Given the description of an element on the screen output the (x, y) to click on. 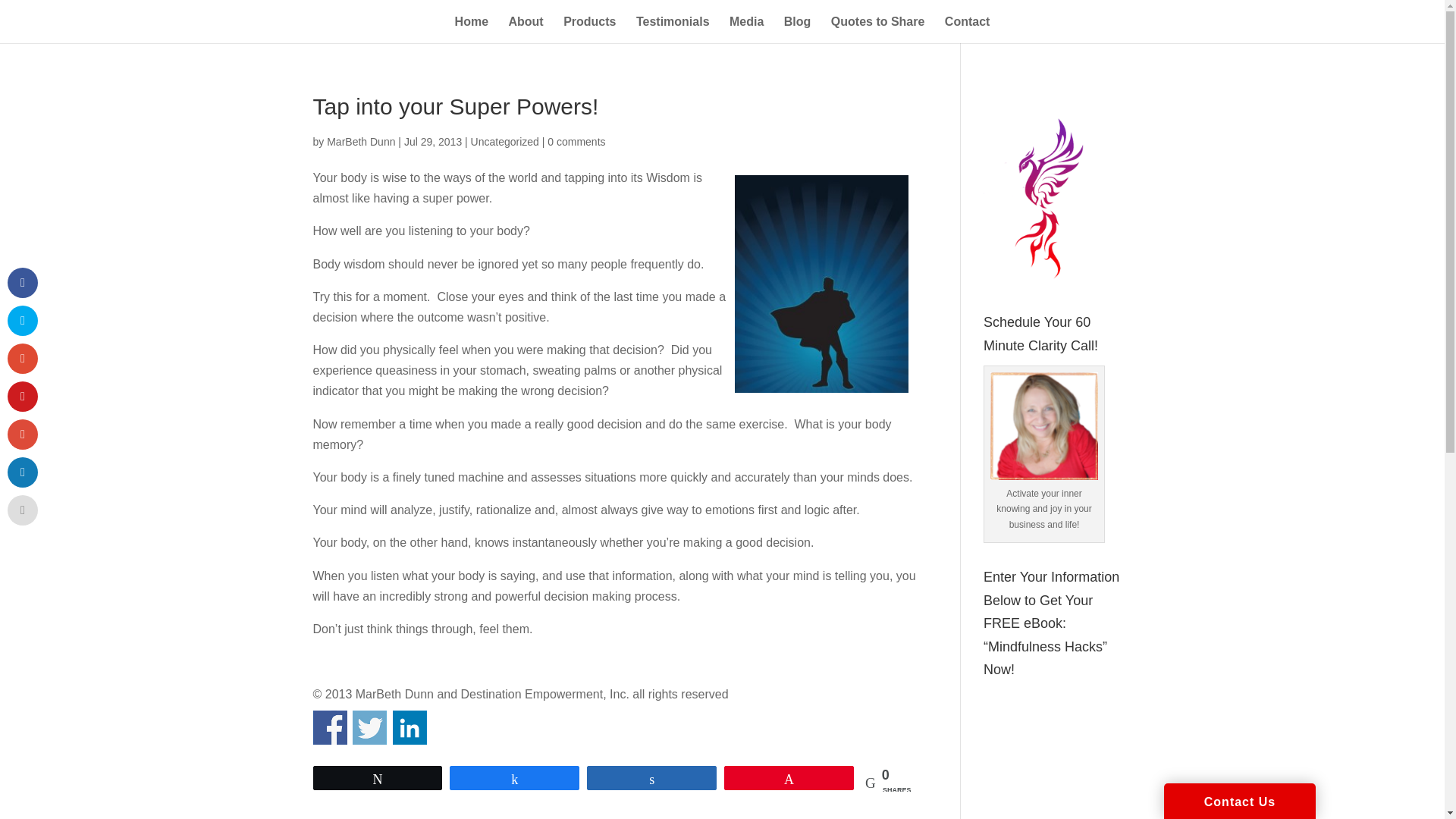
About (525, 27)
MarBeth Dunn (360, 141)
Schedule Your 60 Minute Clarity Call! (1043, 425)
Media (745, 27)
Testimonials (673, 27)
Share on Facebook (329, 727)
Share on Linkedin (409, 727)
Quotes to Share (877, 27)
Products (589, 27)
Posts by MarBeth Dunn (360, 141)
0 comments (576, 141)
Contact (967, 27)
Home (470, 27)
Share on Twitter (369, 727)
